Given the description of an element on the screen output the (x, y) to click on. 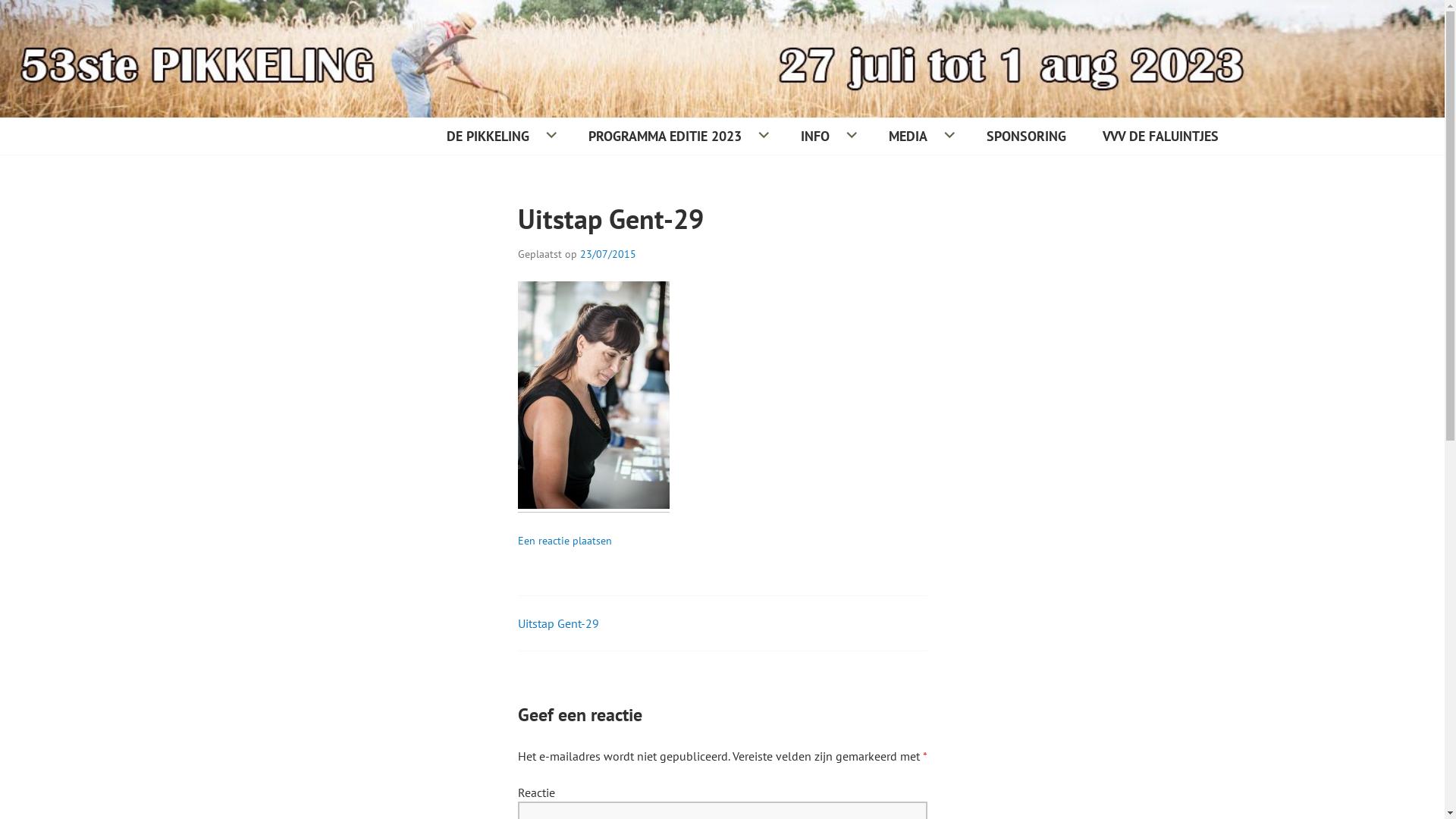
PROGRAMMA EDITIE 2023 Element type: text (676, 136)
VVV DE FALUINTJES Element type: text (1160, 136)
PIKKELING Element type: text (132, 162)
MEDIA Element type: text (919, 136)
23/07/2015 Element type: text (607, 253)
INFO Element type: text (826, 136)
DE PIKKELING Element type: text (499, 136)
Uitstap Gent-29 Element type: text (557, 622)
SPONSORING Element type: text (1026, 136)
Zoeken Element type: text (41, 18)
Een reactie plaatsen Element type: text (564, 540)
